Given the description of an element on the screen output the (x, y) to click on. 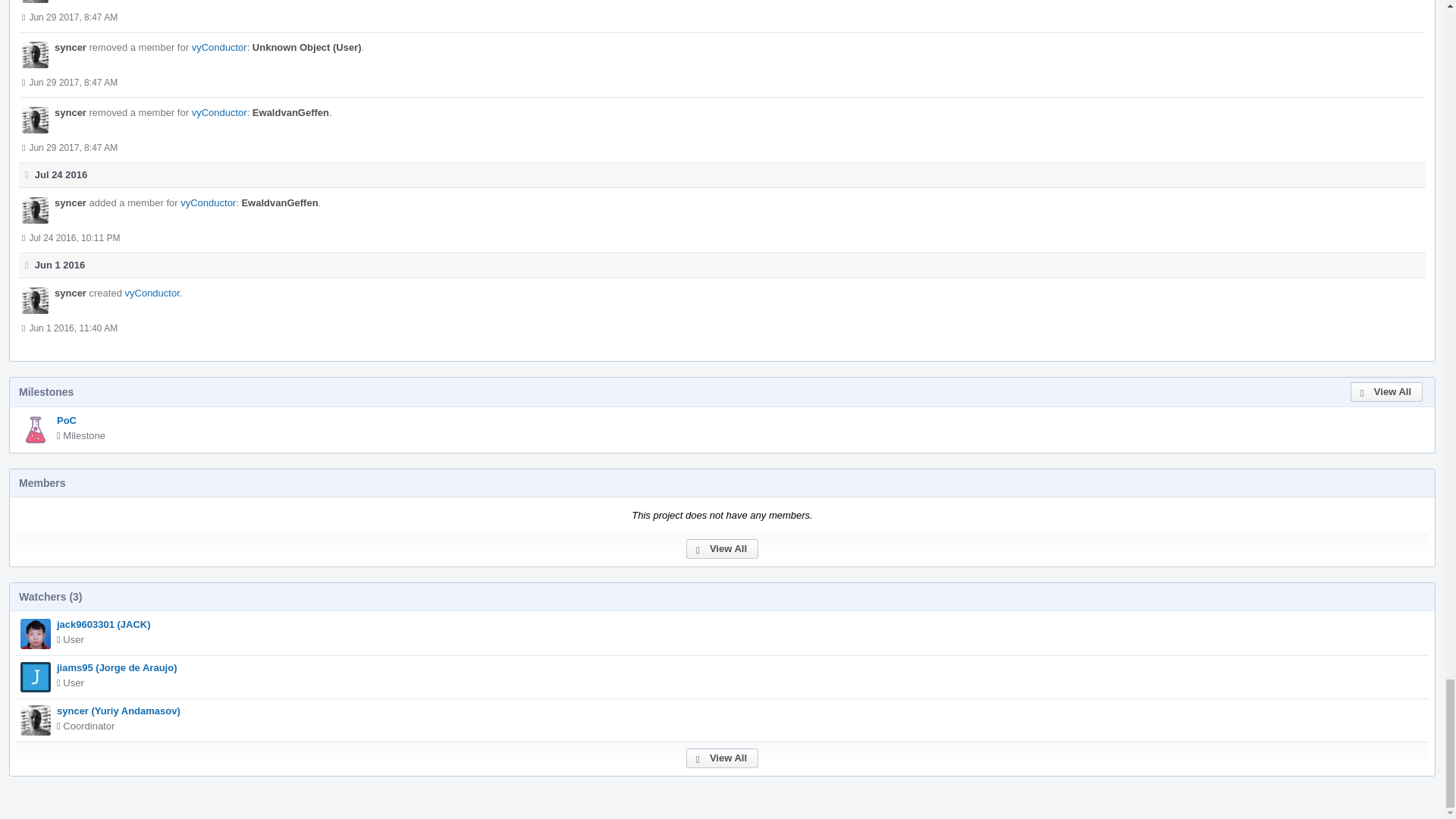
PoC (66, 419)
View All (721, 548)
View All (721, 758)
View All (1386, 392)
PoC (66, 419)
